Given the description of an element on the screen output the (x, y) to click on. 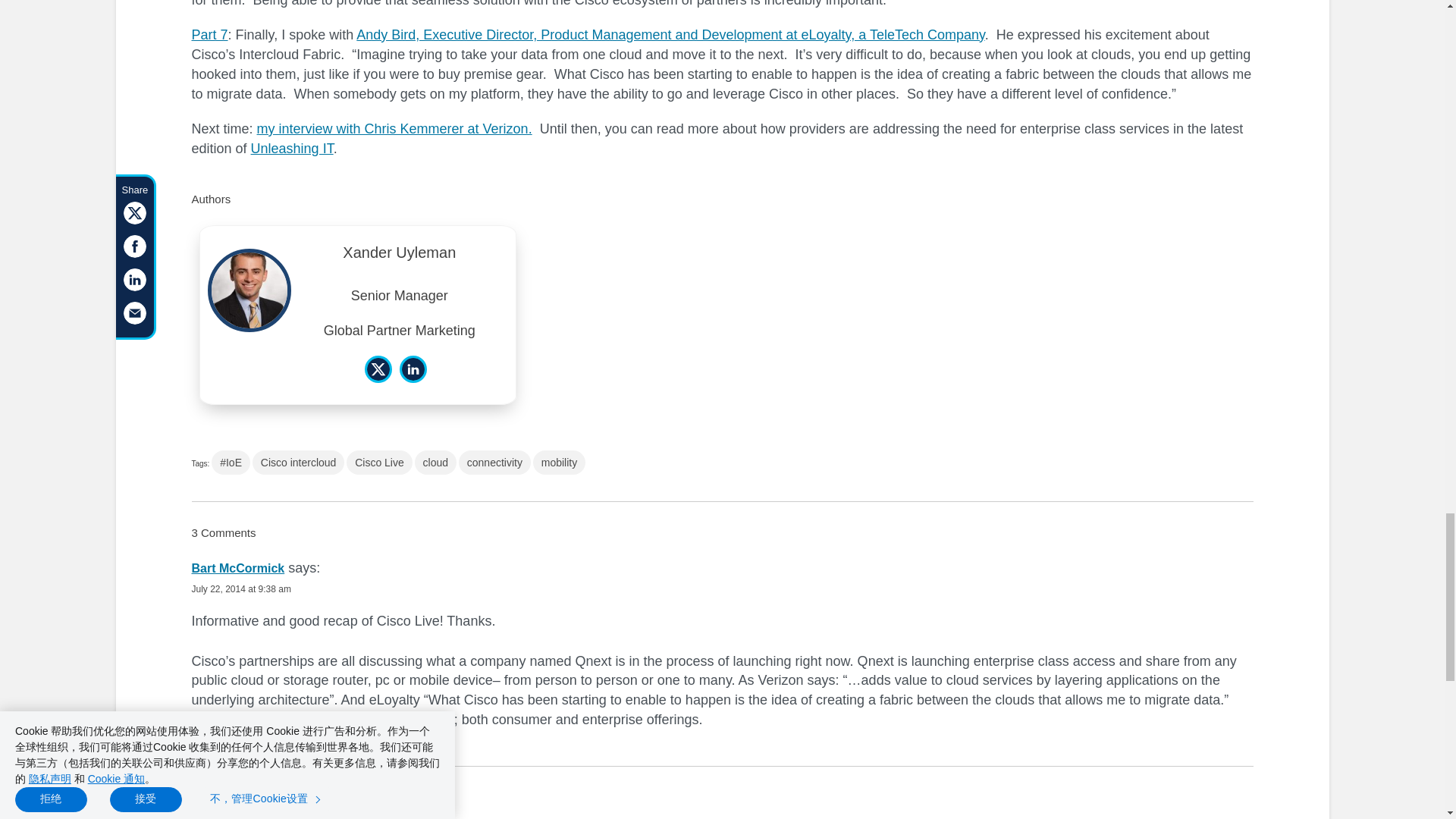
Bart McCormick (236, 567)
connectivity (494, 462)
my interview with Chris Kemmerer at Verizon. (394, 128)
Part 7 (208, 34)
Cisco intercloud (298, 462)
Xander Uyleman (399, 255)
Unleashing IT (291, 148)
cloud (435, 462)
Cisco Live (379, 462)
mobility (558, 462)
